Given the description of an element on the screen output the (x, y) to click on. 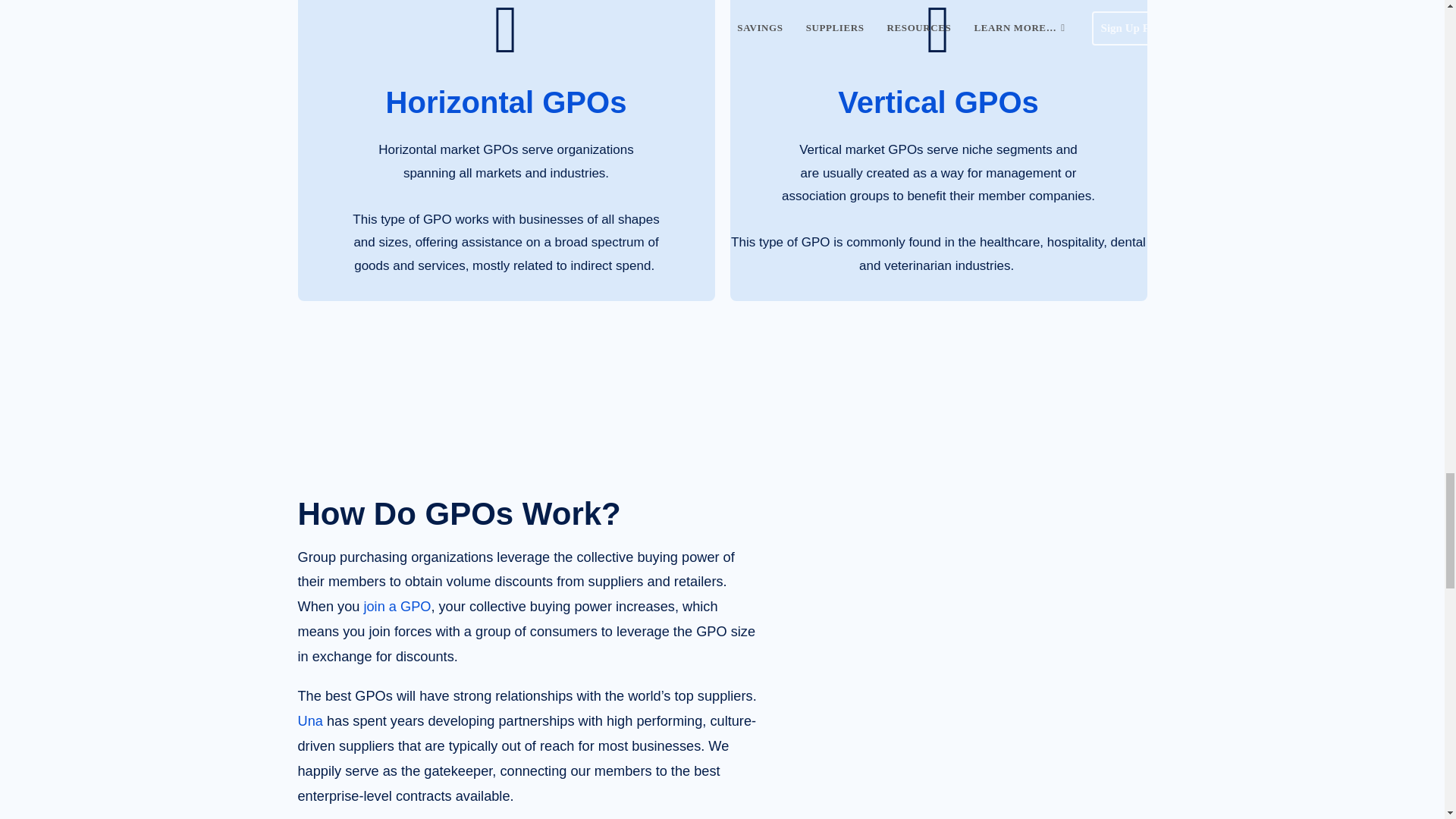
Page 8 (528, 682)
Una (309, 720)
join a GPO (396, 606)
